Given the description of an element on the screen output the (x, y) to click on. 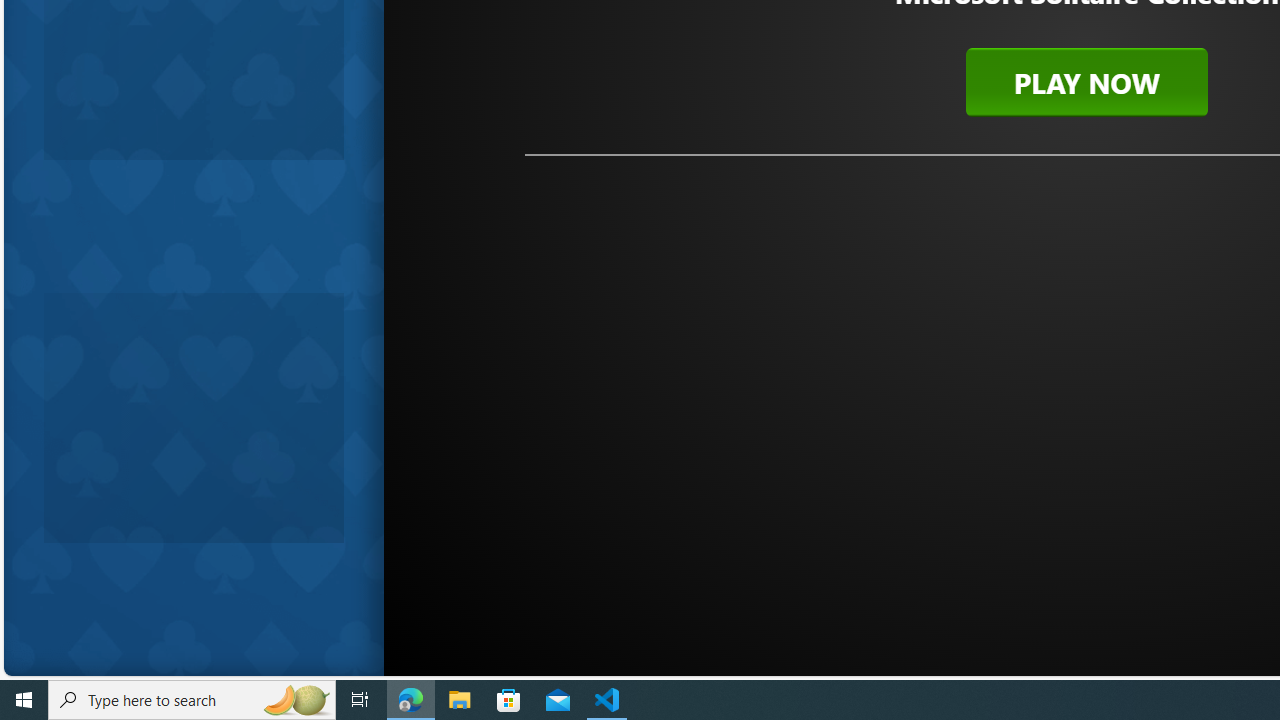
PLAY NOW (1086, 82)
